Given the description of an element on the screen output the (x, y) to click on. 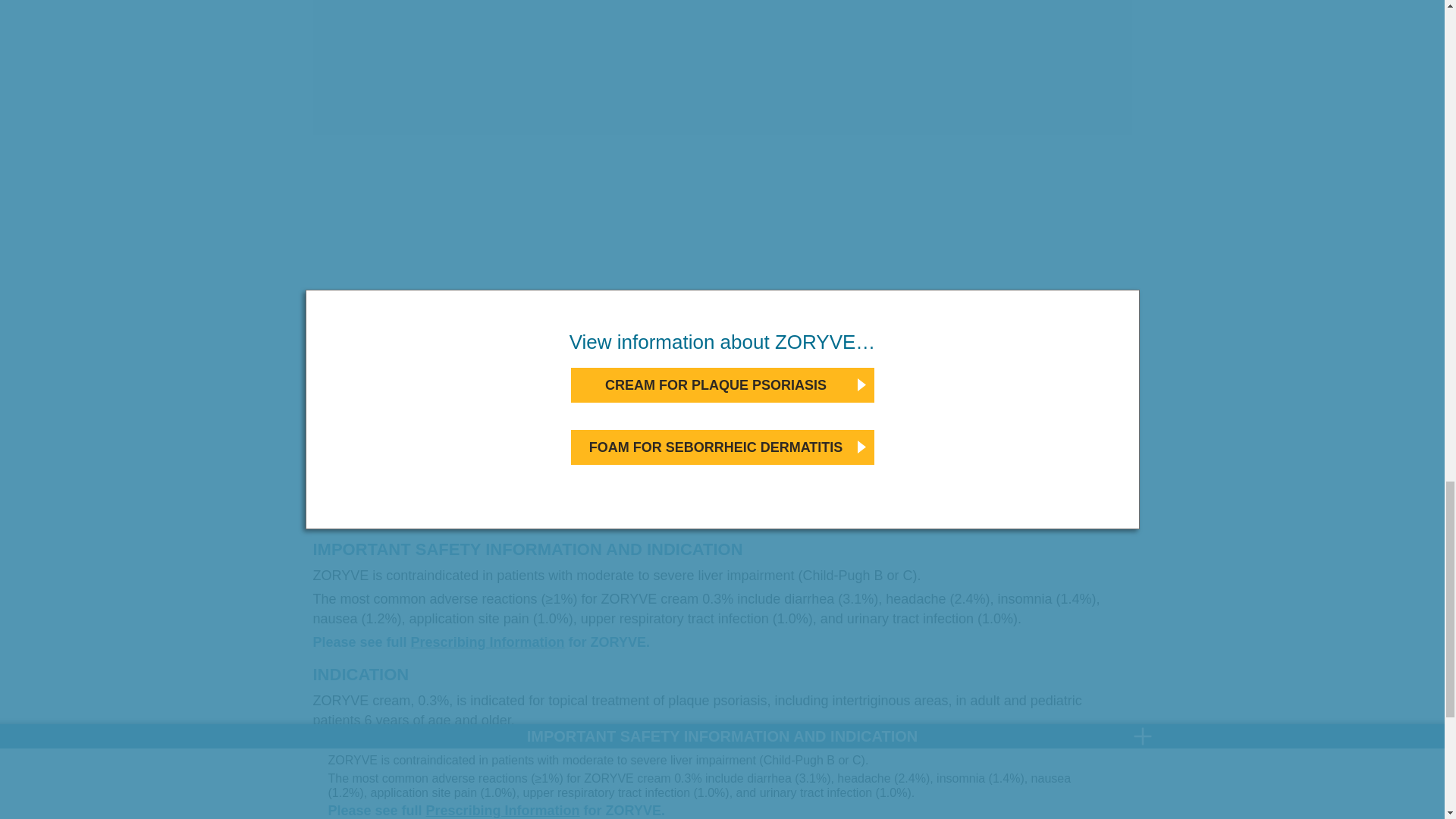
Prescribing Information (487, 642)
